Given the description of an element on the screen output the (x, y) to click on. 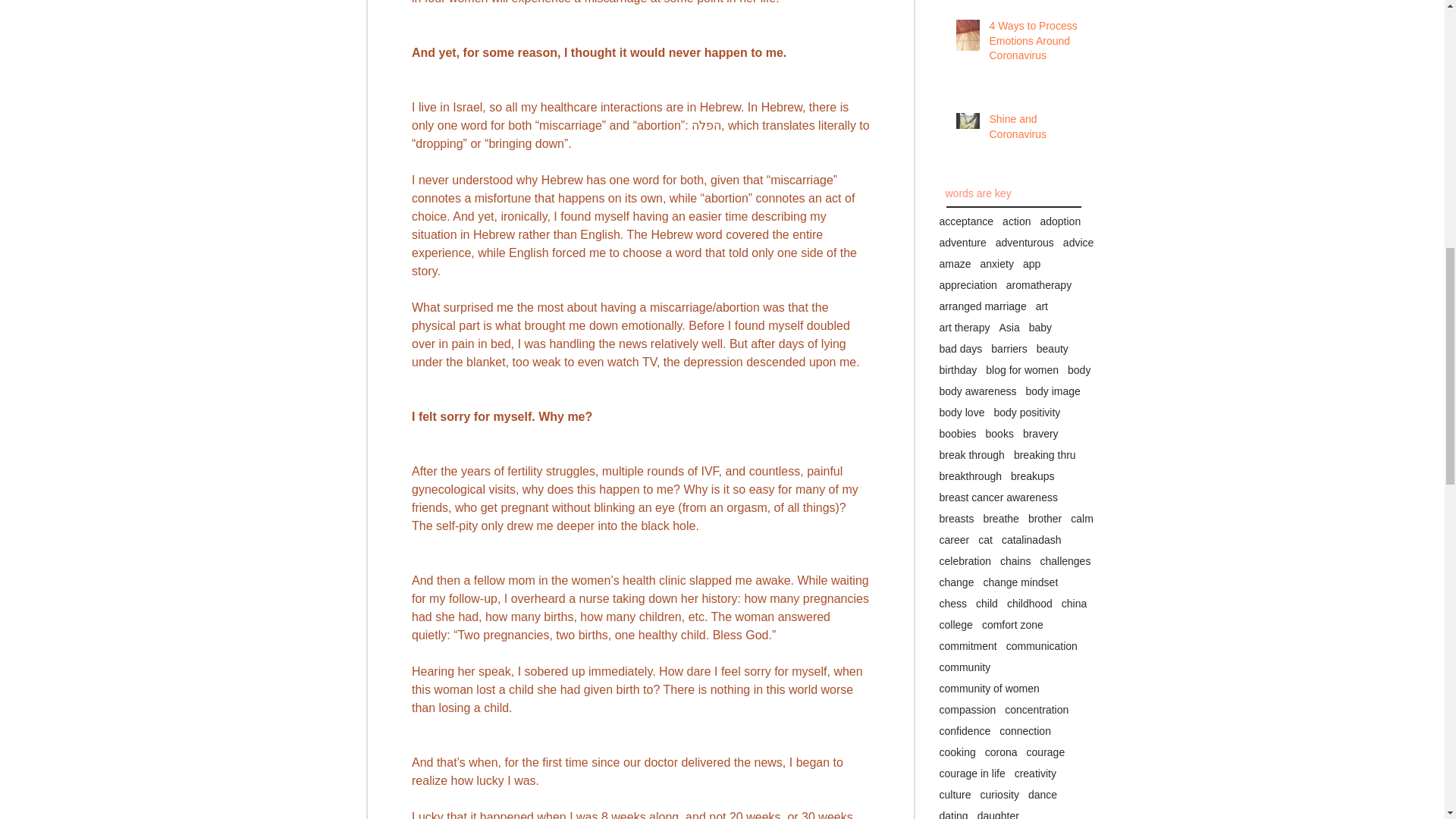
Shine and Coronavirus (1034, 130)
action (1016, 221)
4 Ways to Process Emotions Around Coronavirus (1034, 43)
acceptance (965, 221)
